Given the description of an element on the screen output the (x, y) to click on. 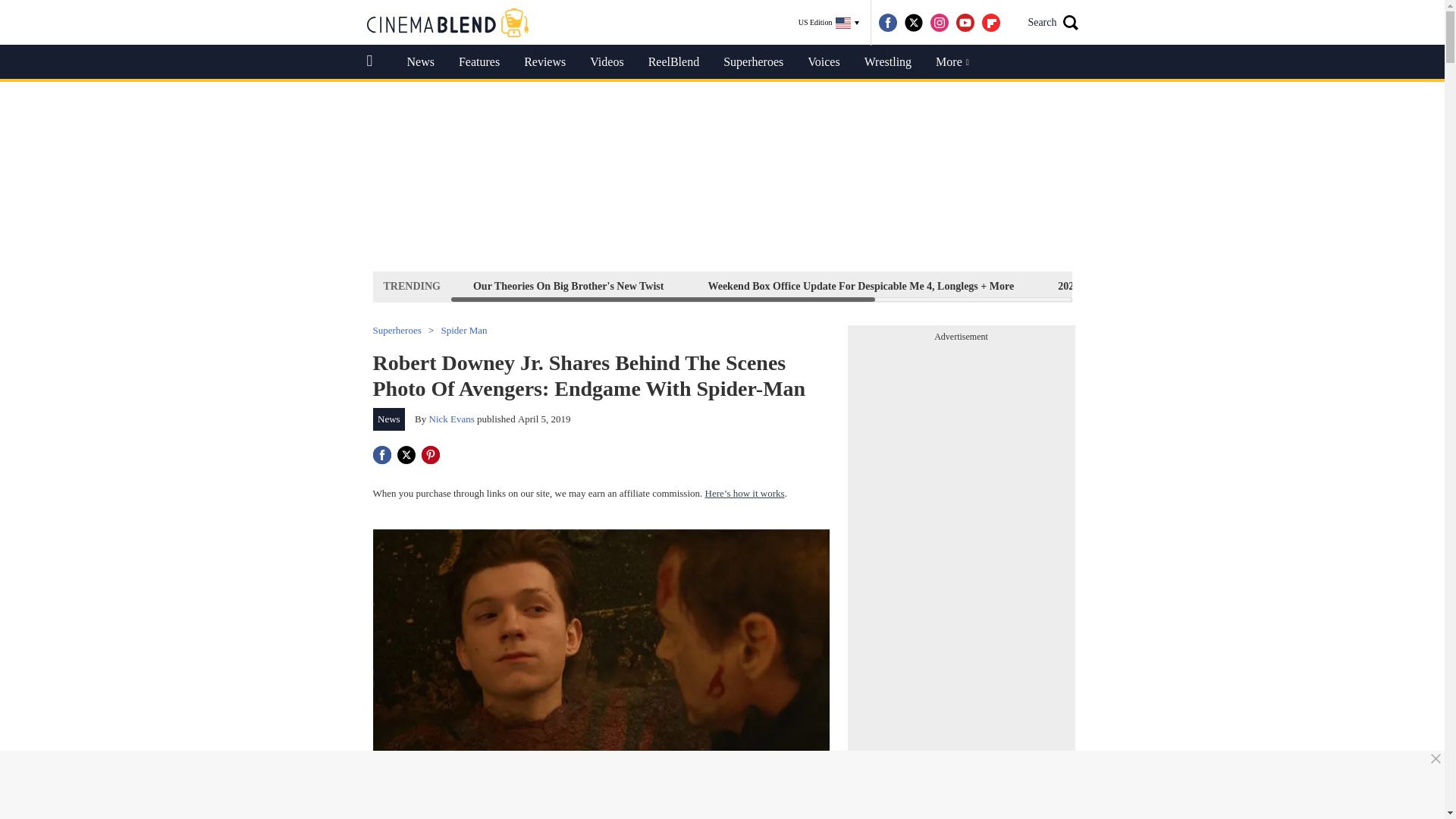
Superheroes (397, 329)
100 Best Sitcoms Of All Time (1272, 286)
2024 Upcoming Movies (1110, 286)
Spider Man (464, 329)
Wrestling (887, 61)
News (419, 61)
US Edition (828, 22)
Reviews (545, 61)
Videos (606, 61)
ReelBlend (673, 61)
Features (479, 61)
Our Theories On Big Brother's New Twist (568, 286)
